Given the description of an element on the screen output the (x, y) to click on. 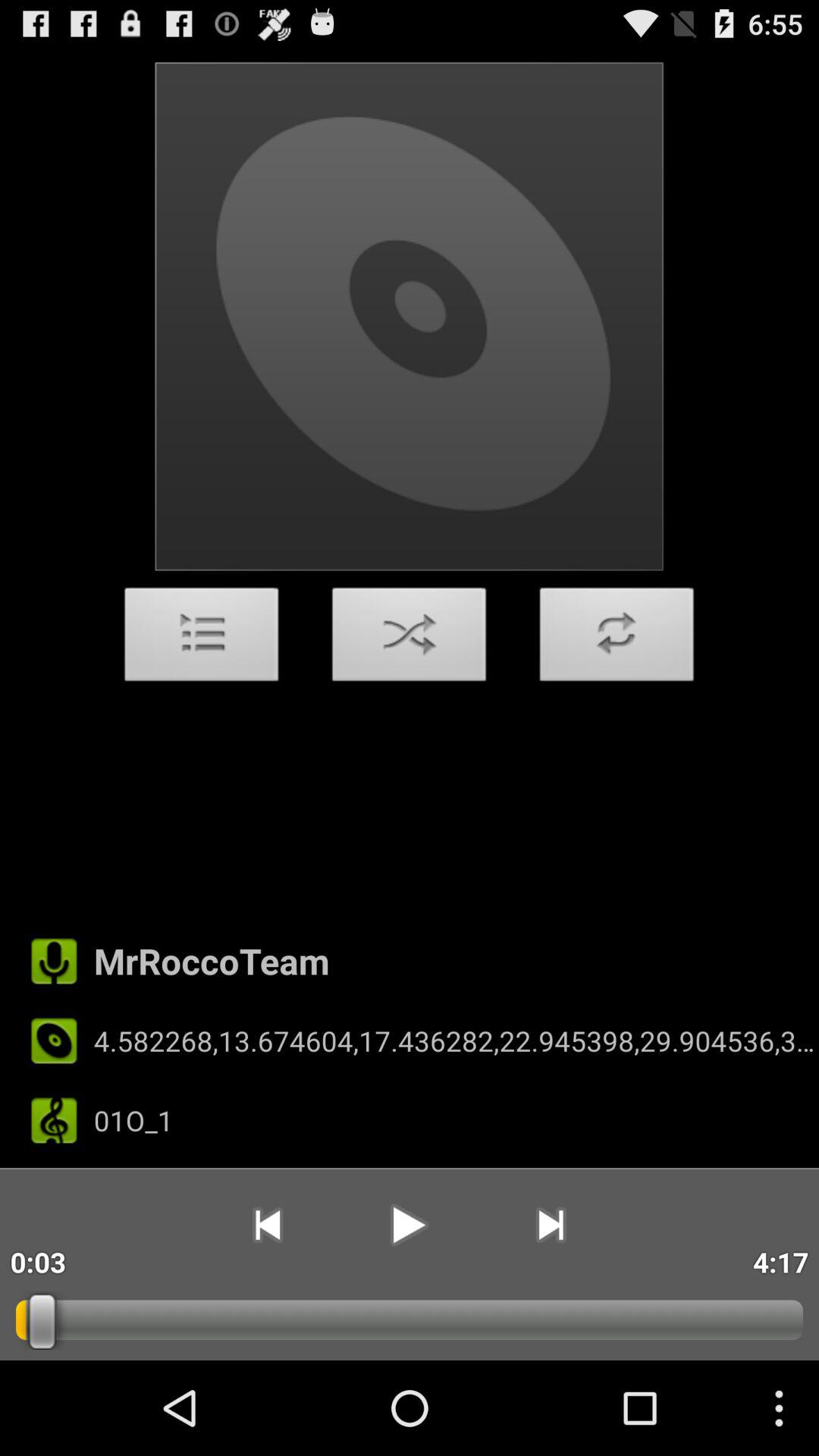
turn off the item on the right (616, 638)
